Given the description of an element on the screen output the (x, y) to click on. 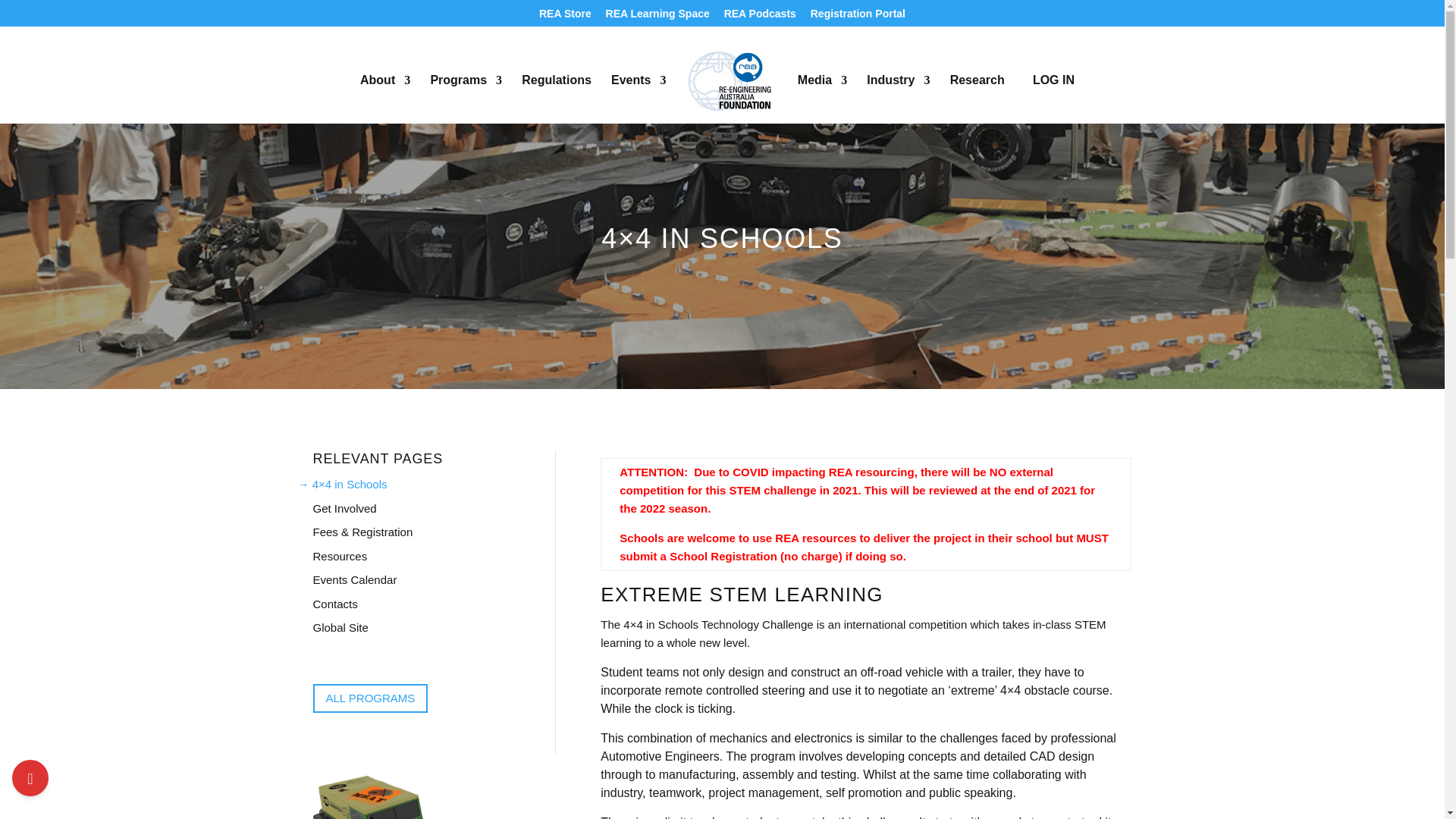
About (384, 99)
Regulations (556, 99)
Media (822, 99)
REA Store (564, 16)
Registration Portal (857, 16)
Programs (465, 99)
Events (638, 99)
REA Podcasts (759, 16)
REA Learning Space (657, 16)
